Given the description of an element on the screen output the (x, y) to click on. 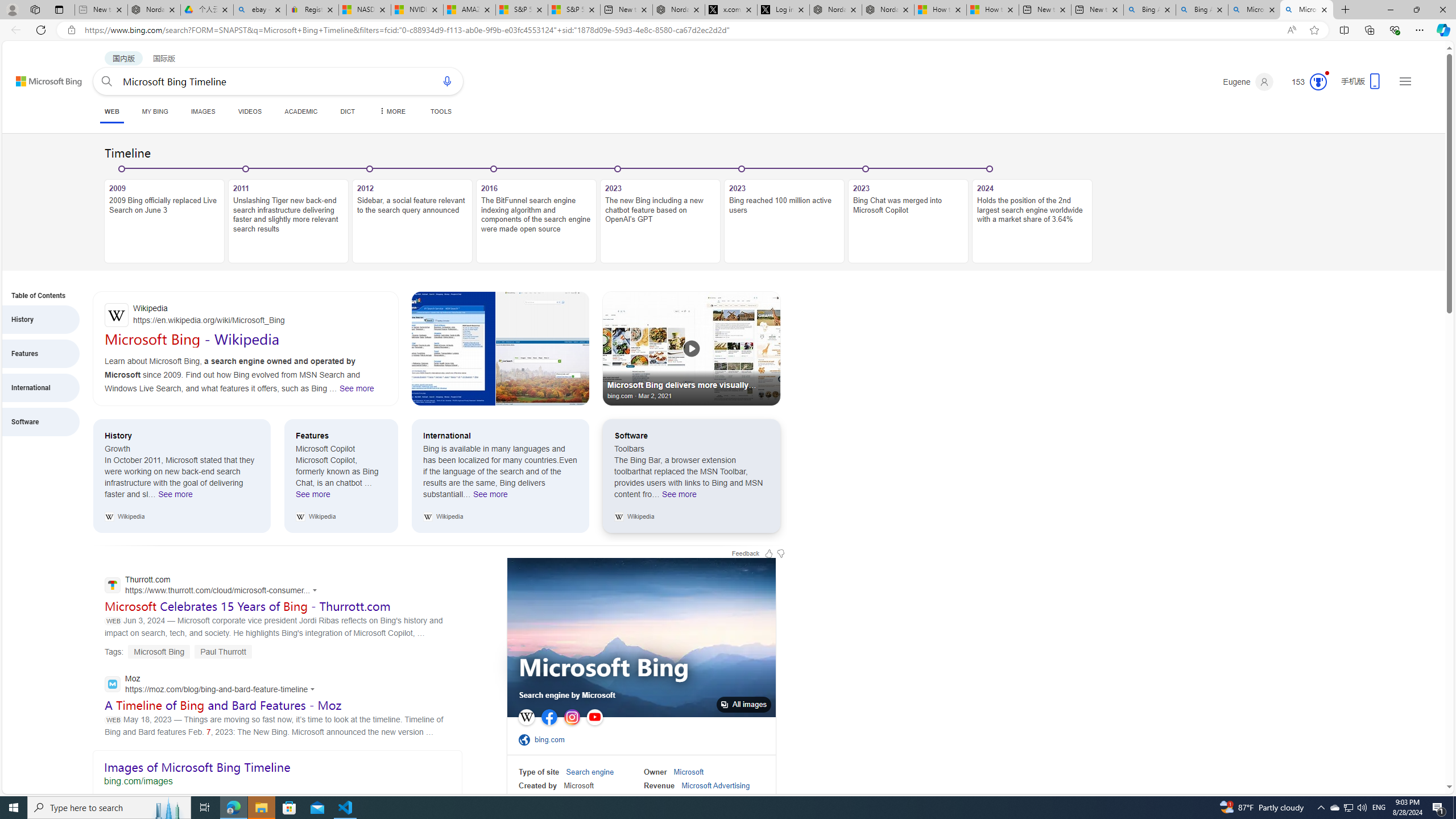
TOOLS (440, 111)
New tab - Sleeping (100, 9)
Actions for this site (314, 689)
Log in to X / X (782, 9)
Official Site (526, 739)
Revenue (659, 785)
Microsoft Bing Timeline - Search (1306, 9)
Instagram (571, 716)
